Given the description of an element on the screen output the (x, y) to click on. 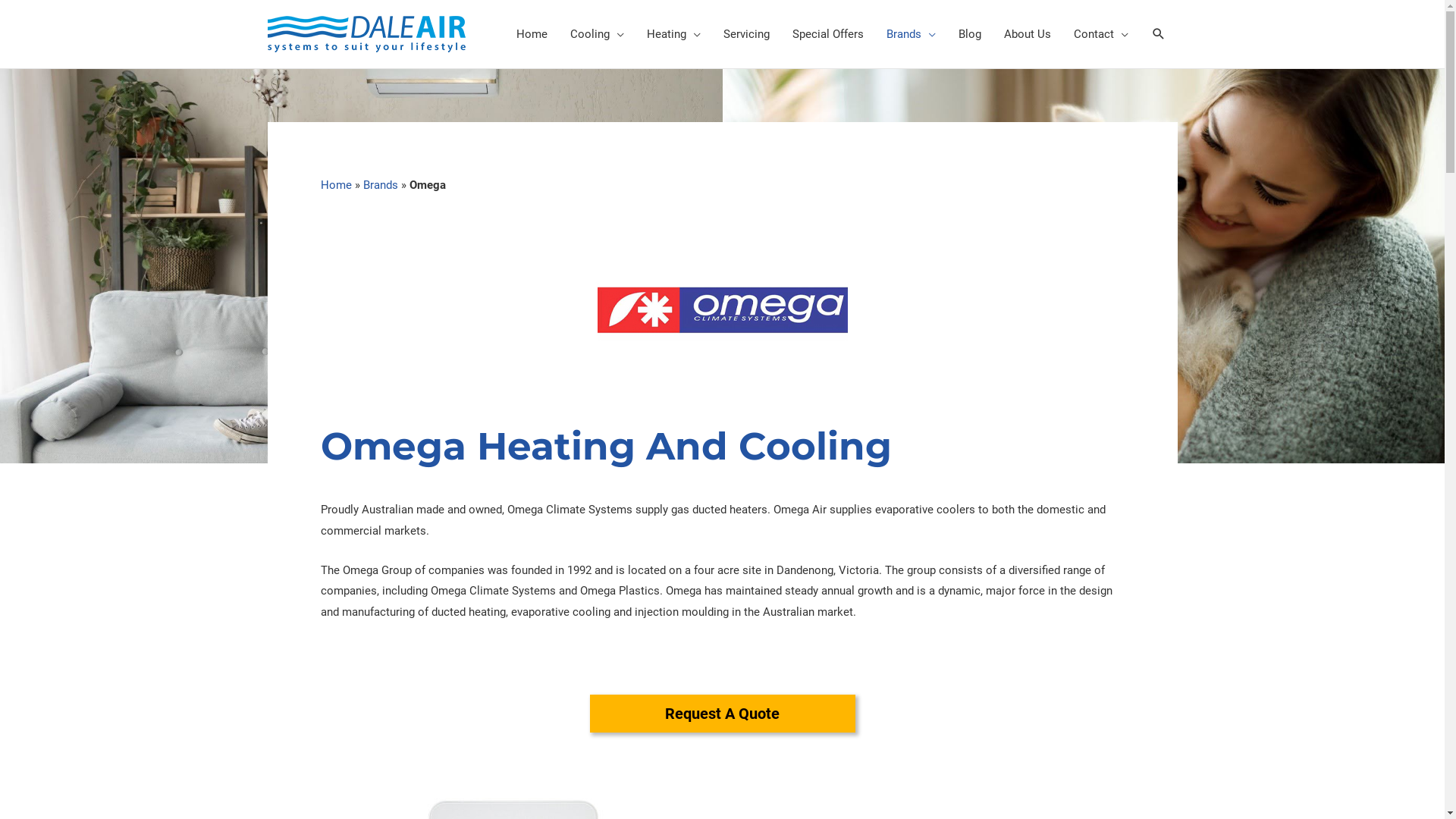
Servicing Element type: text (745, 33)
Heating Element type: text (673, 33)
Search Element type: text (22, 14)
Home Element type: text (531, 33)
Brands Element type: text (911, 33)
Contact Element type: text (1100, 33)
Cooling Element type: text (596, 33)
Search Element type: text (1158, 33)
Blog Element type: text (968, 33)
omega Element type: hover (721, 309)
Home Element type: text (335, 184)
Brands Element type: text (379, 184)
Special Offers Element type: text (828, 33)
Request A Quote Element type: text (722, 713)
About Us Element type: text (1026, 33)
